Given the description of an element on the screen output the (x, y) to click on. 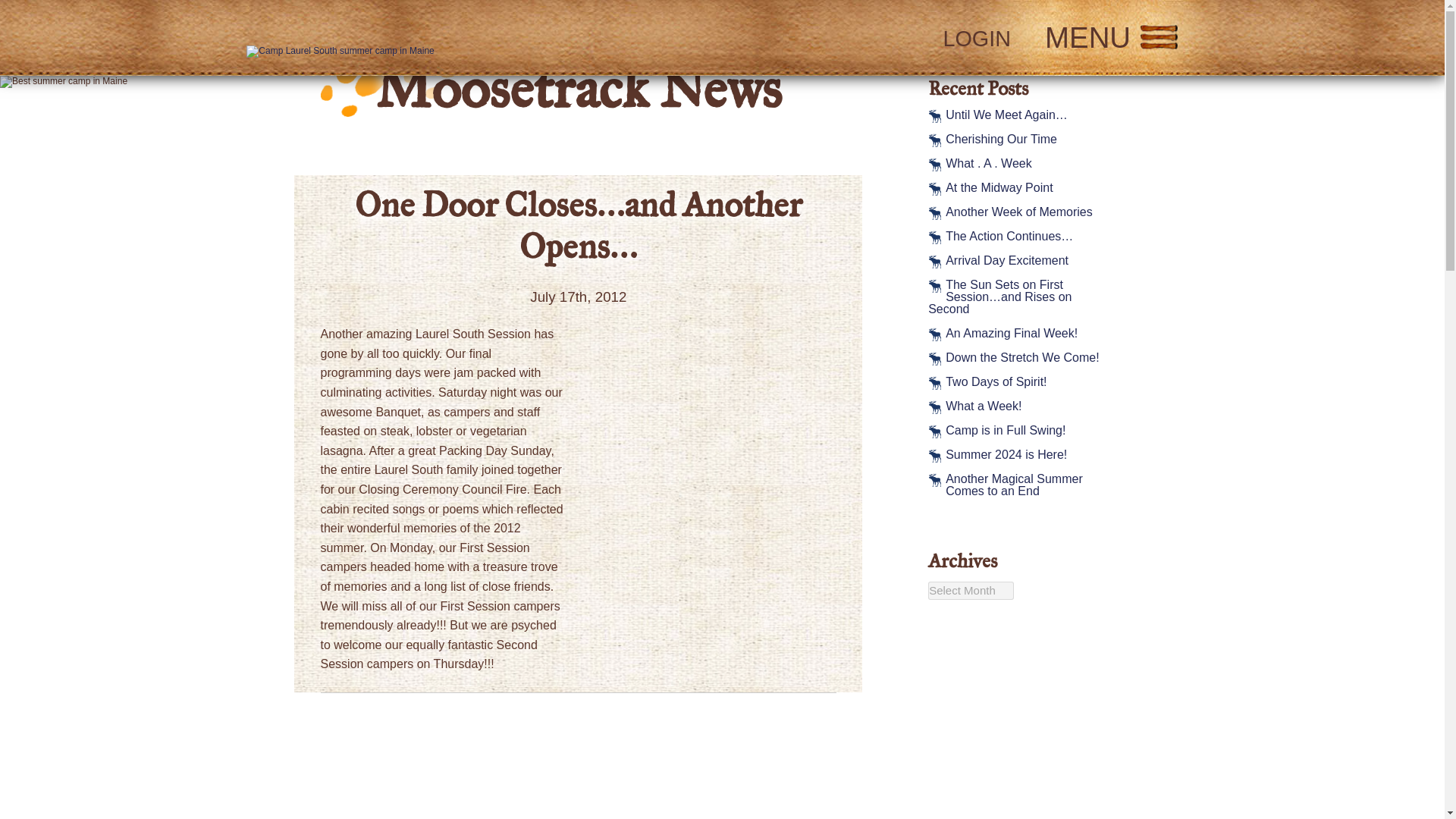
Log in to summer camp account (976, 38)
Camp Laurel South summer camp in Maine (339, 51)
MENU (1111, 37)
Back to homepage (461, 38)
LOGIN (976, 38)
